Given the description of an element on the screen output the (x, y) to click on. 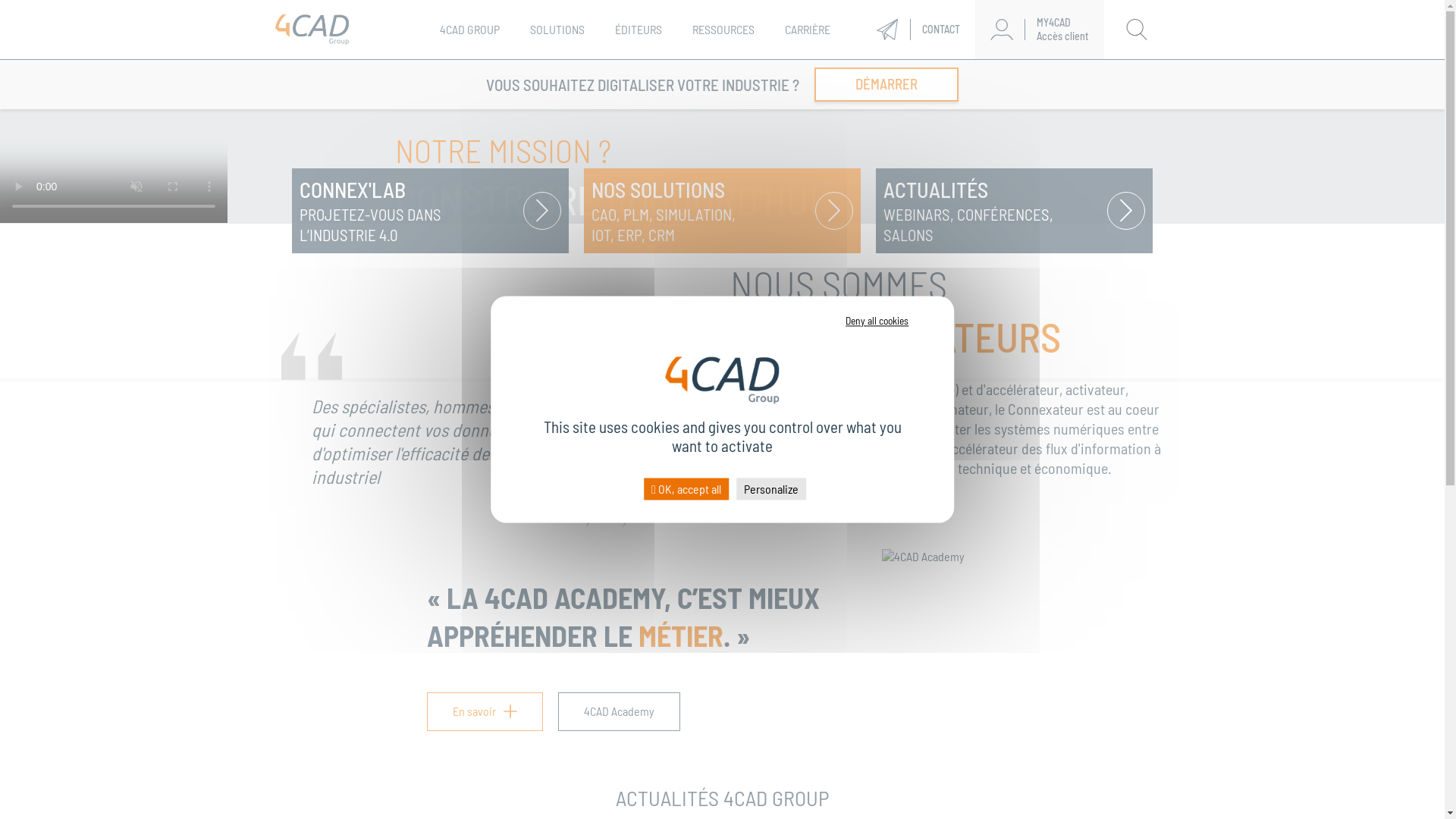
Deny all cookies Element type: text (876, 320)
CONTACT Element type: text (917, 29)
4CAD GROUP Element type: text (469, 29)
Nos formations Element type: text (838, 74)
NOS SOLUTIONS
CAO, PLM, SIMULATION,
IOT, ERP, CRM Element type: text (721, 210)
OK, accept all Element type: text (685, 488)
En savoir Element type: text (484, 711)
SOLUTIONS Element type: text (556, 29)
Personalize Element type: text (771, 488)
RESSOURCES Element type: text (723, 29)
4CAD Academy Element type: text (619, 711)
